Given the description of an element on the screen output the (x, y) to click on. 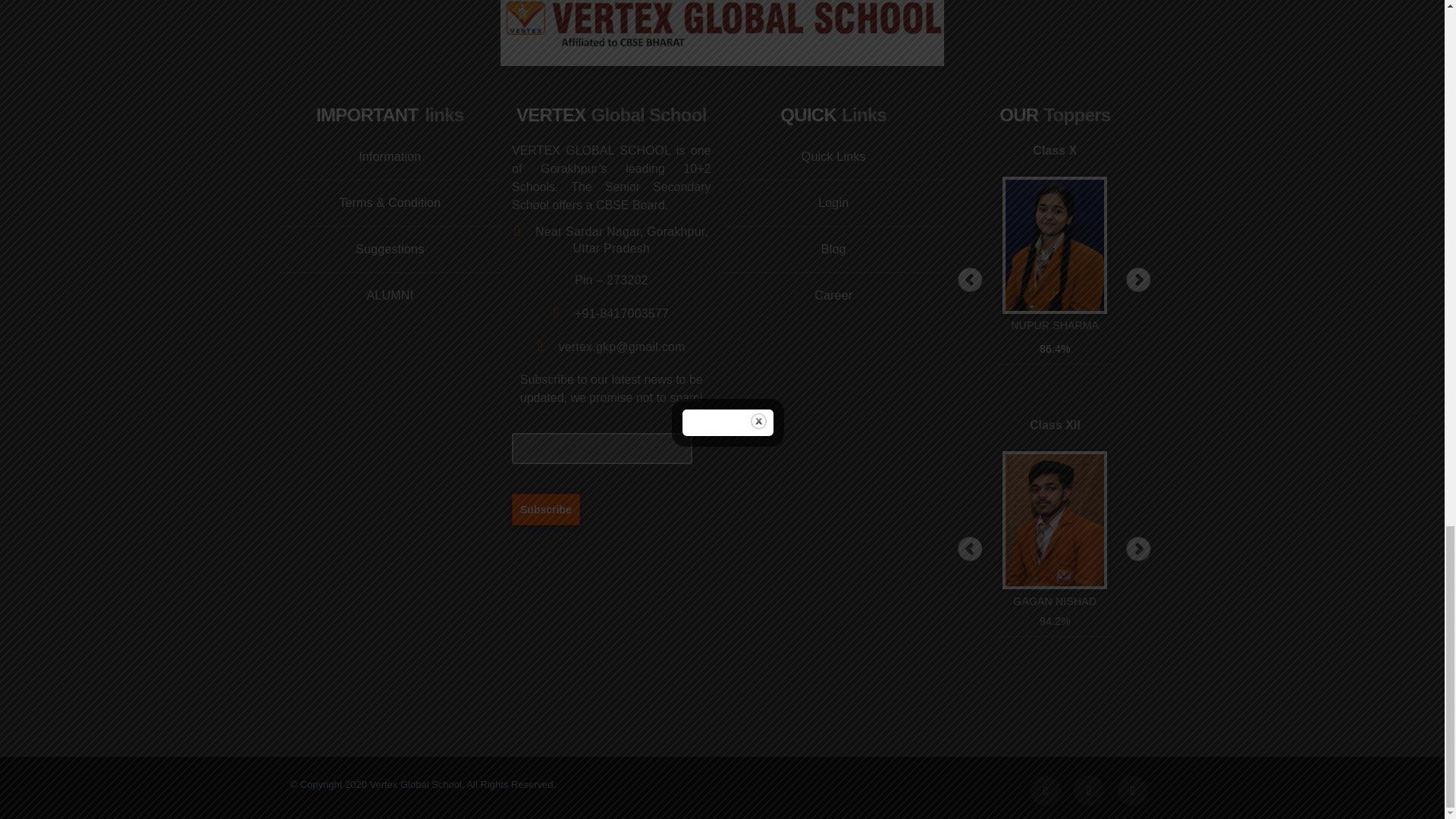
Subscribe (545, 508)
